Given the description of an element on the screen output the (x, y) to click on. 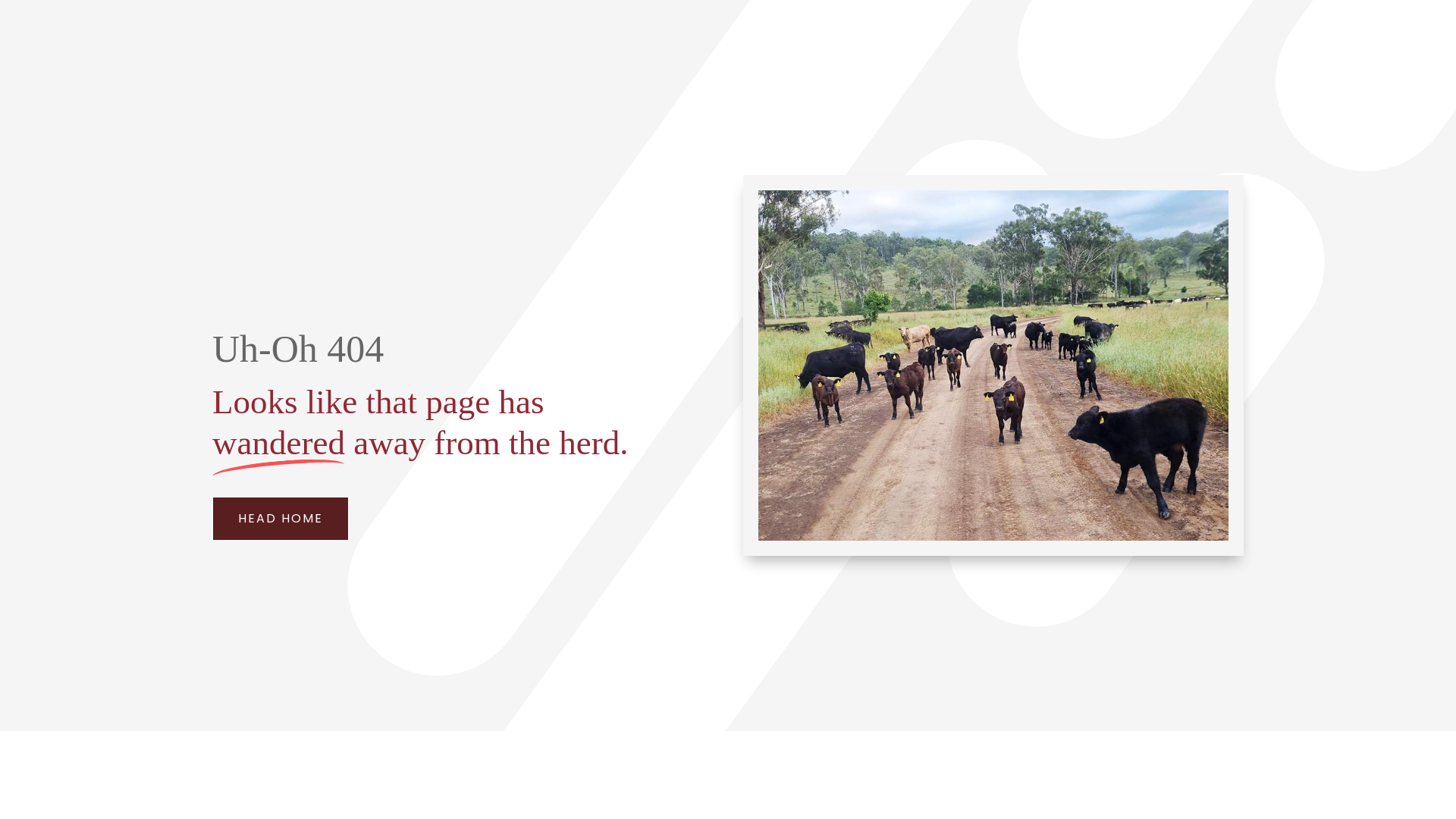
Error - 404 Element type: hover (993, 365)
HEAD HOME Element type: text (280, 517)
